Given the description of an element on the screen output the (x, y) to click on. 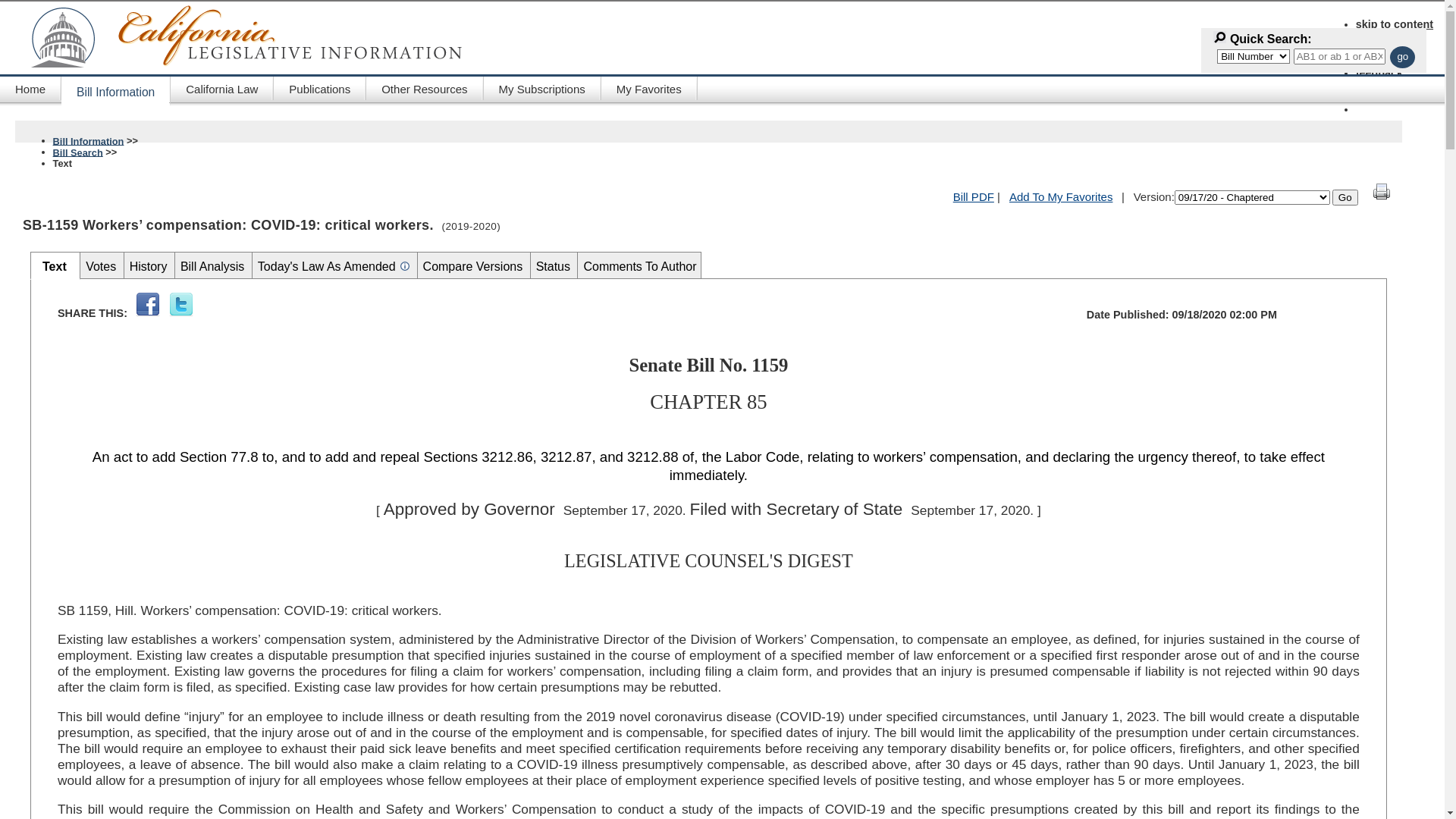
Add To My Favorites Element type: text (1060, 196)
Text Element type: text (55, 266)
Bill PDF Element type: text (973, 196)
feedback Element type: text (1378, 72)
FAQ Element type: text (1366, 60)
Status Element type: text (555, 266)
Bill Information Element type: text (115, 91)
Today's Law As Amended Element type: text (327, 266)
home Element type: text (1369, 36)
login Element type: text (1368, 97)
Go Element type: text (1345, 197)
accessibility Element type: text (1388, 48)
go Element type: text (1402, 57)
Bill Analysis Element type: text (213, 266)
Votes Element type: text (102, 266)
History Element type: text (149, 266)
Bill Search Element type: text (78, 148)
sitemap Element type: text (1375, 84)
Print Bills1 Element type: hover (1381, 196)
My Favorites Element type: text (649, 88)
Comments To Author Element type: text (639, 266)
California Law Element type: text (221, 88)
My Subscriptions Element type: text (542, 88)
Compare Versions Element type: text (474, 266)
skip to content Element type: text (1394, 24)
Bill Information Element type: text (88, 137)
Publications Element type: text (319, 88)
Other Resources Element type: text (424, 88)
Home Element type: text (30, 88)
